Given the description of an element on the screen output the (x, y) to click on. 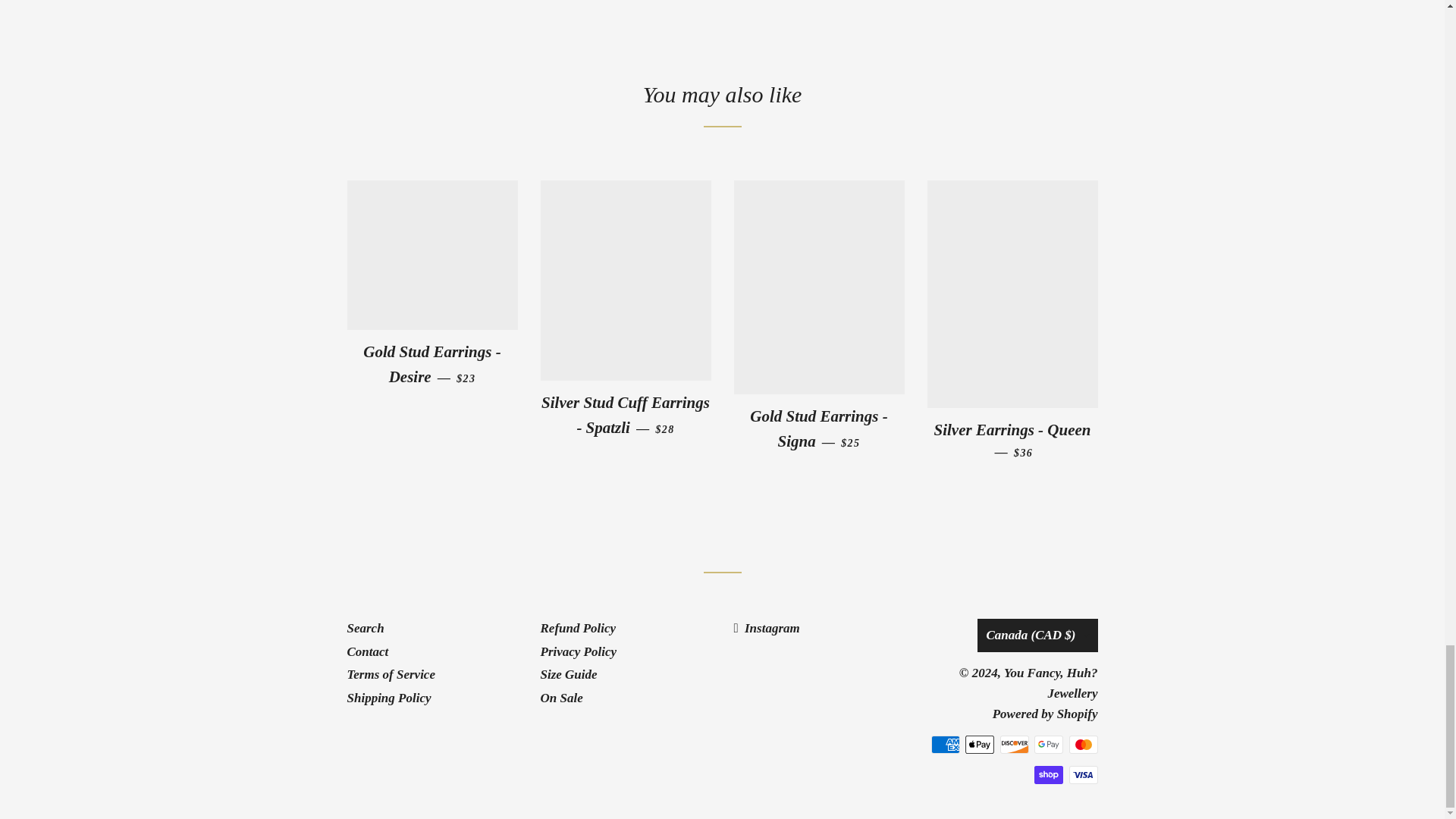
Visa (1082, 774)
You Fancy, Huh? Jewellery on Instagram (766, 627)
American Express (945, 744)
Google Pay (1047, 744)
Discover (1012, 744)
Shop Pay (1047, 774)
Apple Pay (979, 744)
Mastercard (1082, 744)
